Given the description of an element on the screen output the (x, y) to click on. 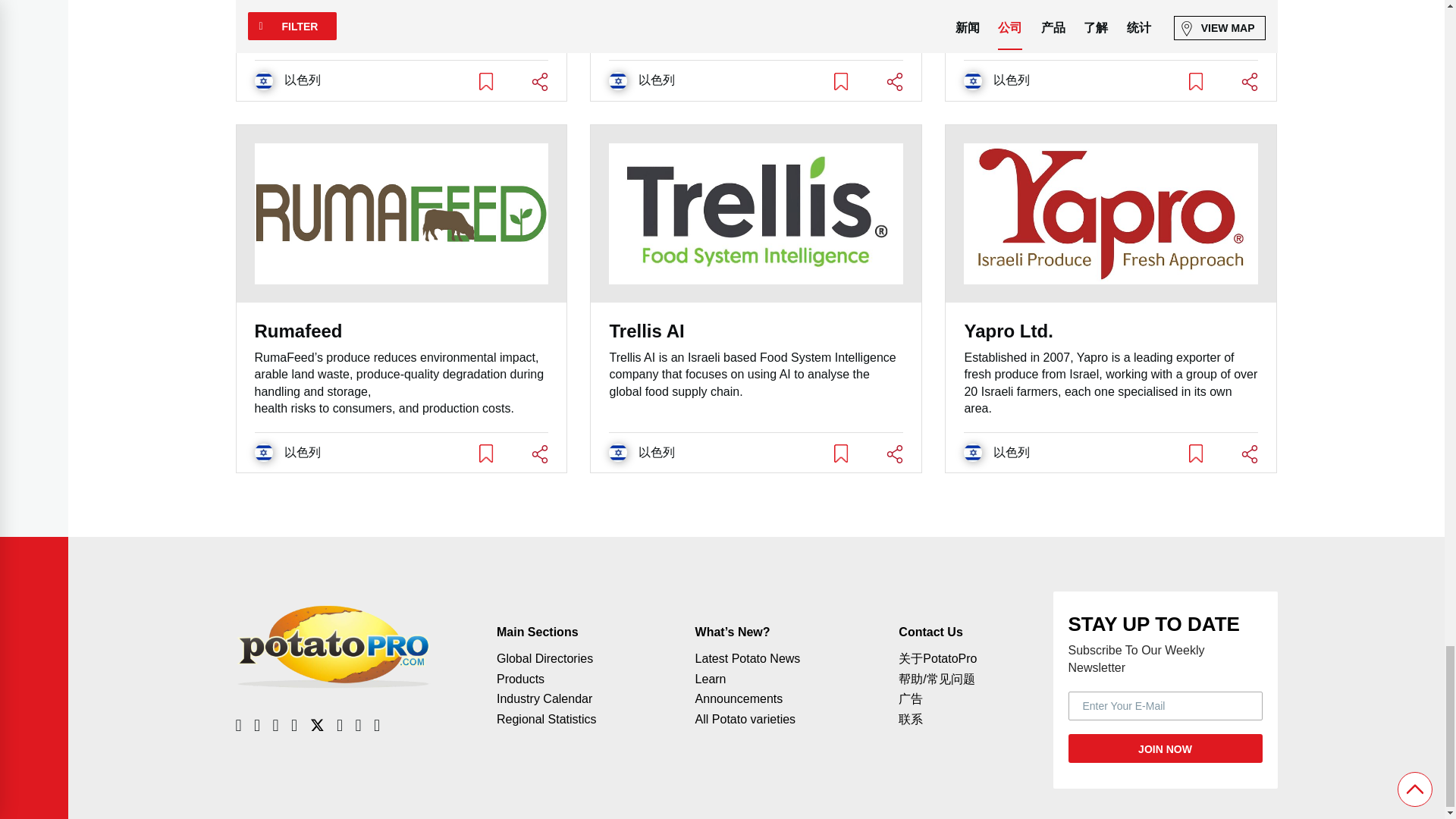
JOIN NOW (1164, 747)
